Given the description of an element on the screen output the (x, y) to click on. 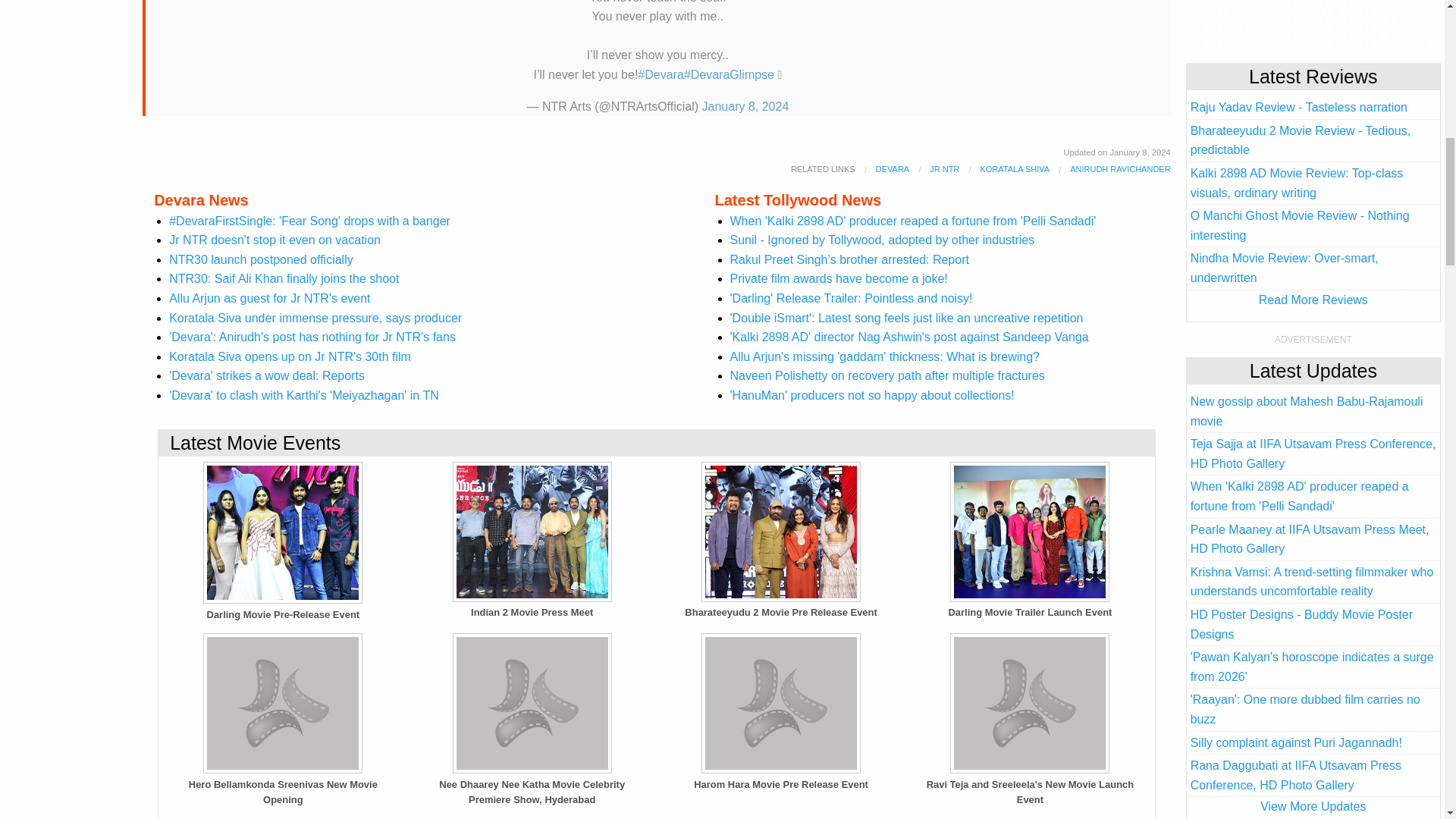
Indian 2 Movie Press Meet (531, 531)
Darling Movie Pre-Release Event (282, 532)
Bharateeyudu 2 Movie Pre Release Event (780, 531)
Hero Bellamkonda Sreenivas New Movie Opening  (282, 703)
Harom Hara Movie Pre Release Event (780, 703)
Darling Movie Trailer Launch Event (1029, 531)
Ravi Teja and Sreeleela's New Movie Launch Event (1029, 703)
